Given the description of an element on the screen output the (x, y) to click on. 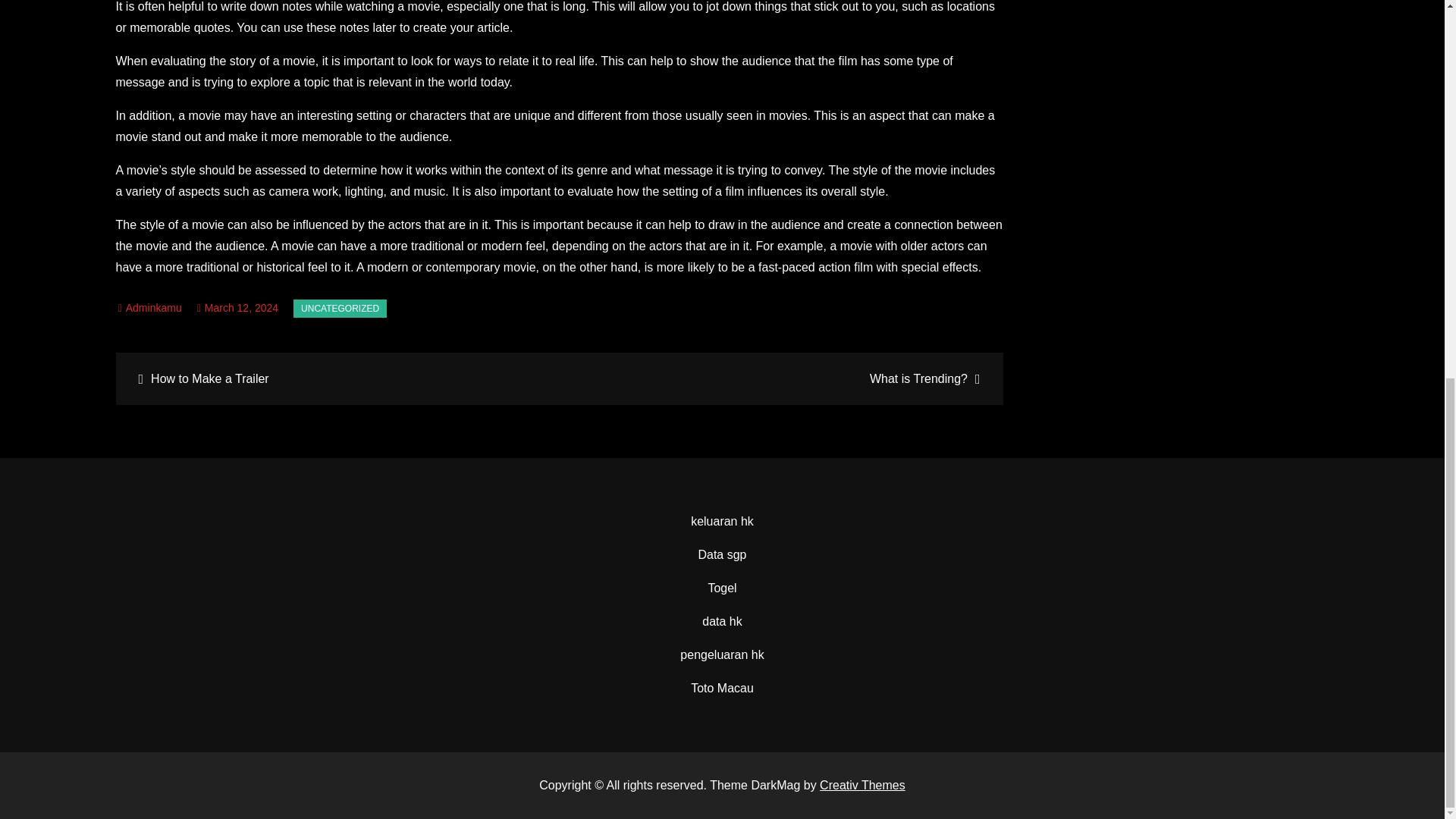
data hk (721, 621)
What is Trending? (778, 378)
Creativ Themes (862, 784)
Data sgp (721, 554)
How to Make a Trailer (339, 378)
Adminkamu (149, 307)
pengeluaran hk (720, 654)
UNCATEGORIZED (340, 308)
Togel (721, 587)
keluaran hk (722, 521)
